Given the description of an element on the screen output the (x, y) to click on. 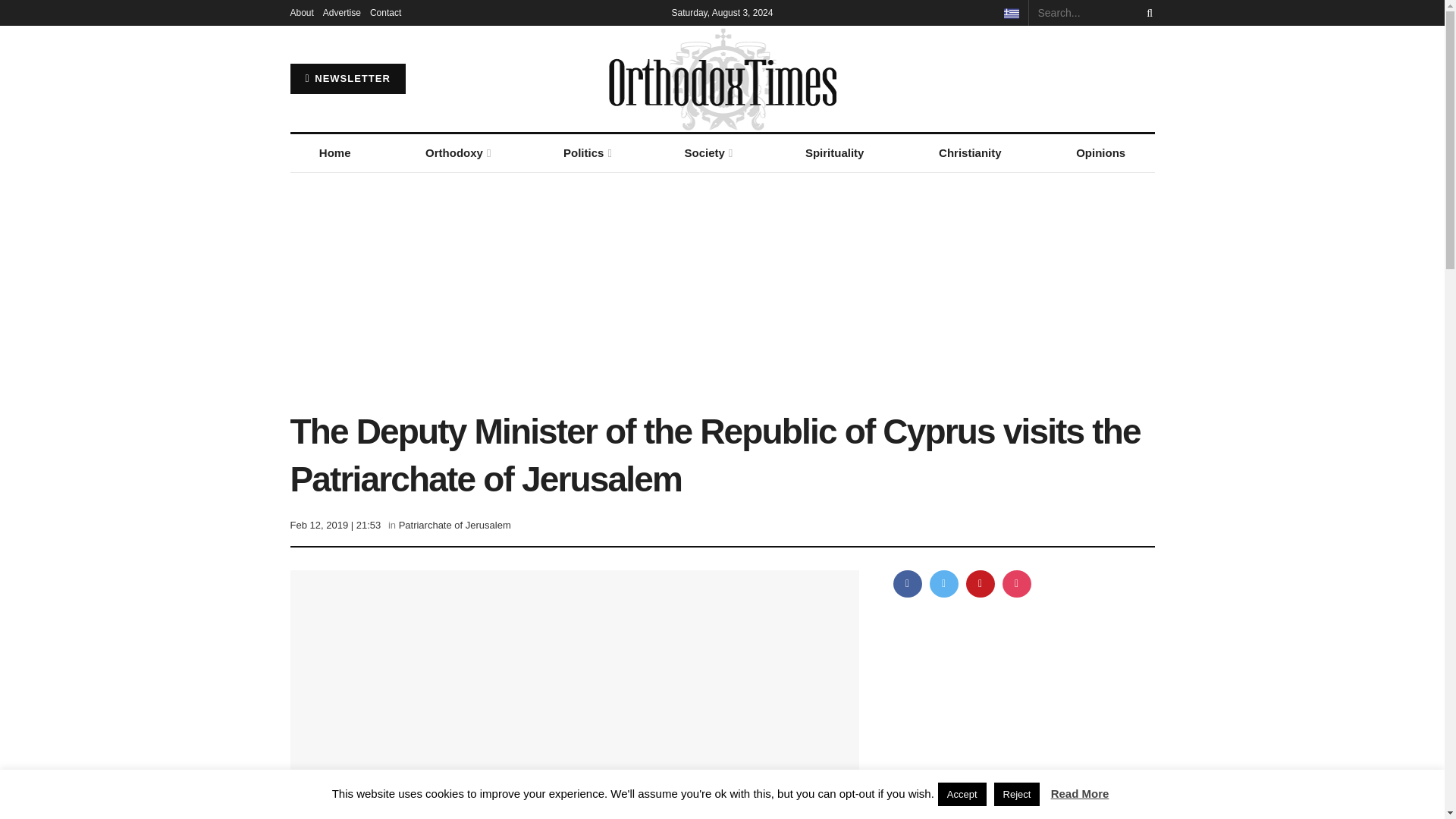
Orthodoxy (457, 152)
Contact (385, 12)
Politics (586, 152)
About (301, 12)
NEWSLETTER (346, 78)
Advertise (342, 12)
Spirituality (834, 152)
Home (333, 152)
Society (706, 152)
